Given the description of an element on the screen output the (x, y) to click on. 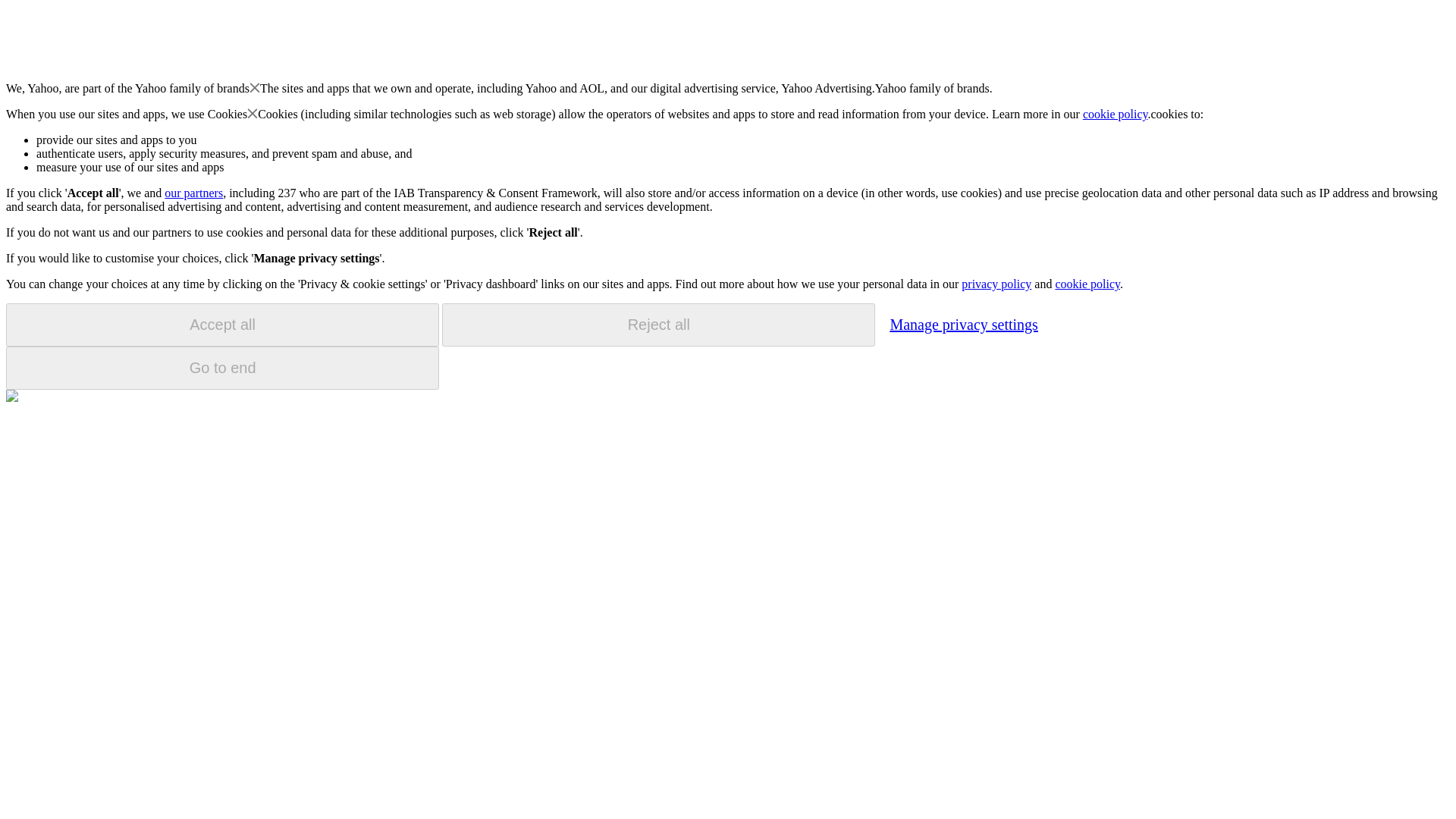
our partners (193, 192)
cookie policy (1115, 113)
Reject all (658, 324)
Accept all (222, 324)
privacy policy (995, 283)
cookie policy (1086, 283)
Go to end (222, 367)
Manage privacy settings (963, 323)
